Given the description of an element on the screen output the (x, y) to click on. 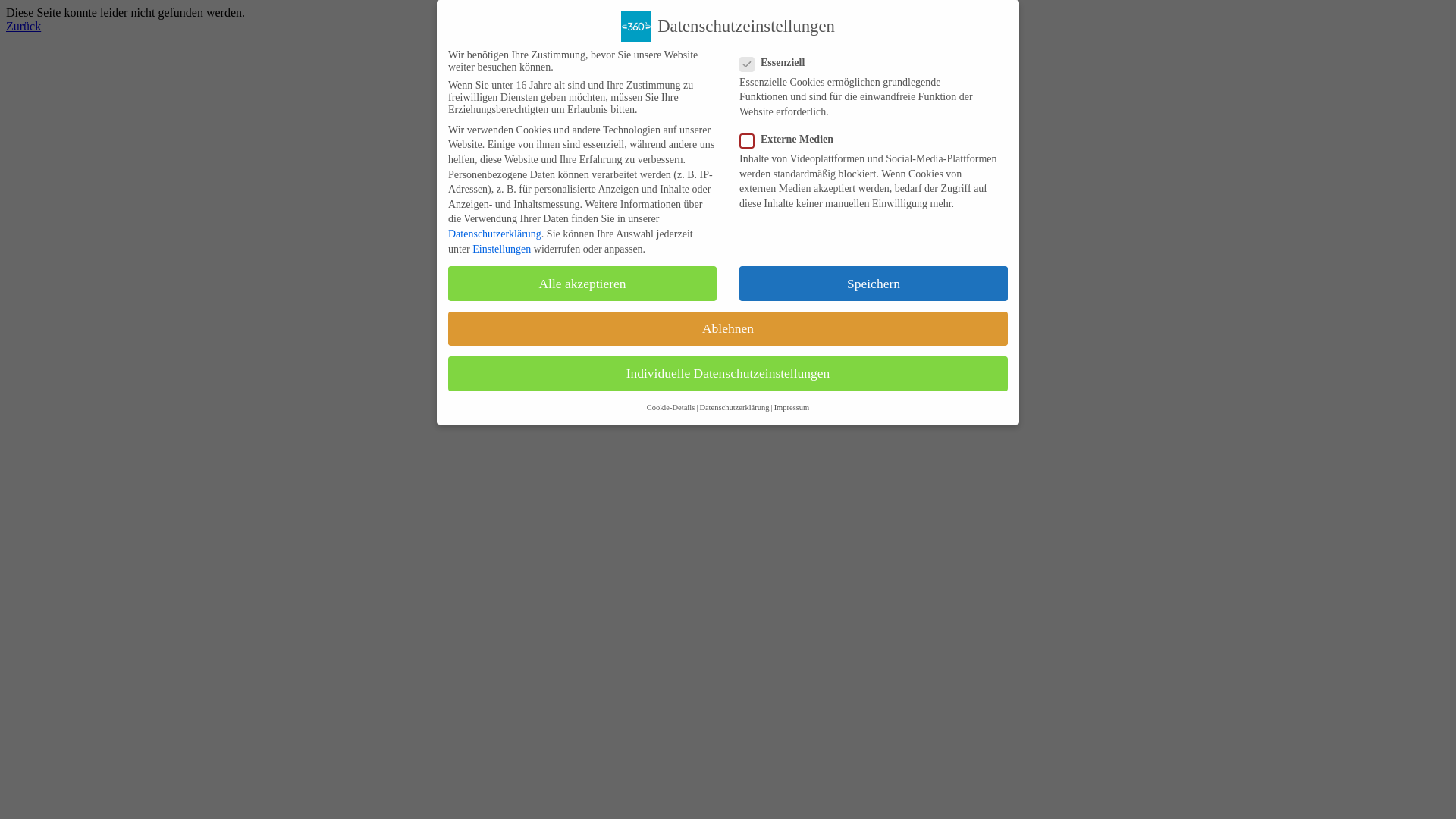
Ablehnen Element type: text (727, 328)
Individuelle Datenschutzeinstellungen Element type: text (727, 373)
Cookie-Details Element type: text (670, 407)
Impressum Element type: text (791, 407)
Einstellungen Element type: text (501, 248)
Speichern Element type: text (873, 283)
Alle akzeptieren Element type: text (582, 283)
